Given the description of an element on the screen output the (x, y) to click on. 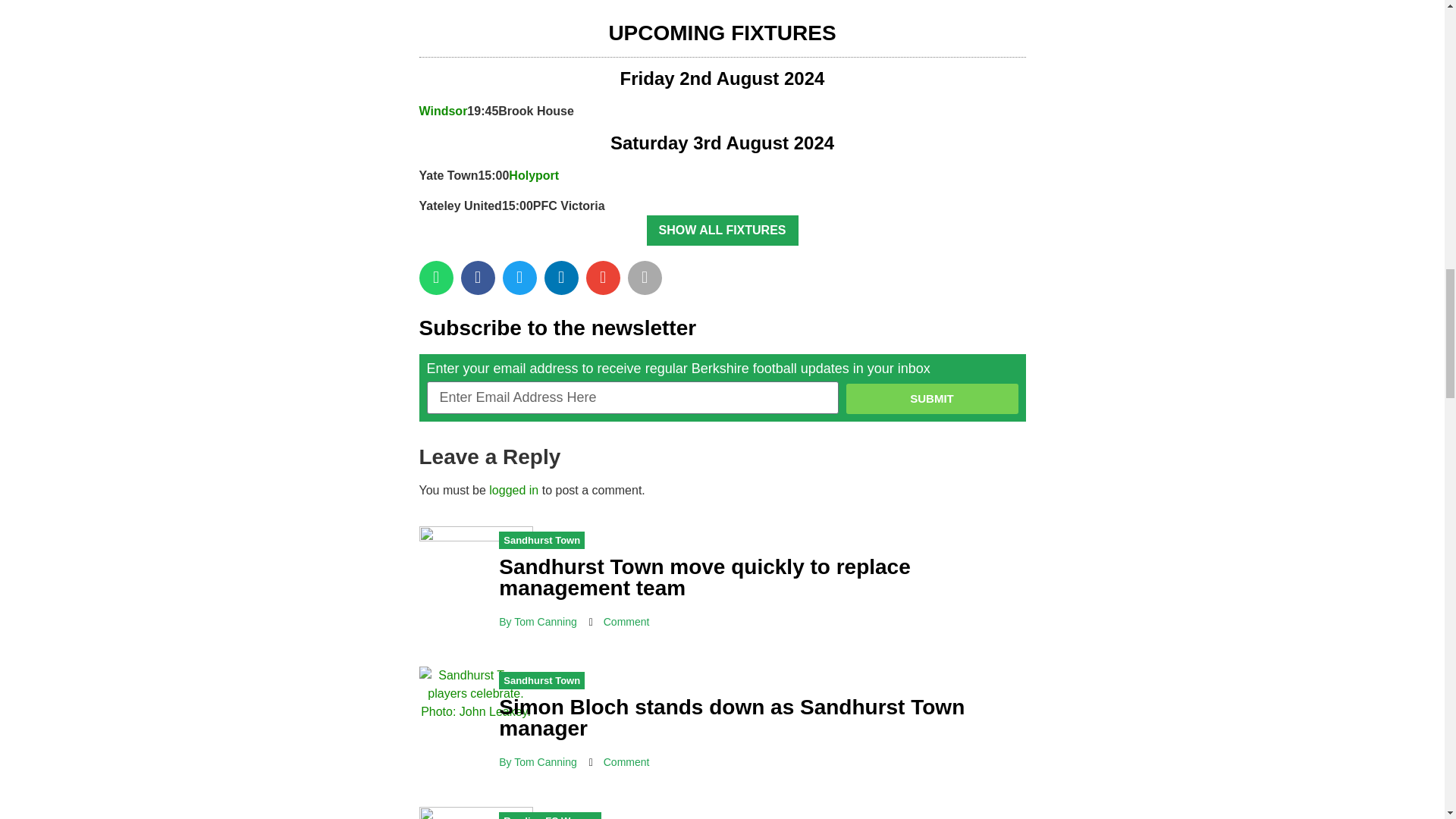
Berkshire football fixtures on Friday 2nd August 2024 (722, 77)
Berkshire football fixtures on Saturday 3rd August 2024 (722, 142)
